Given the description of an element on the screen output the (x, y) to click on. 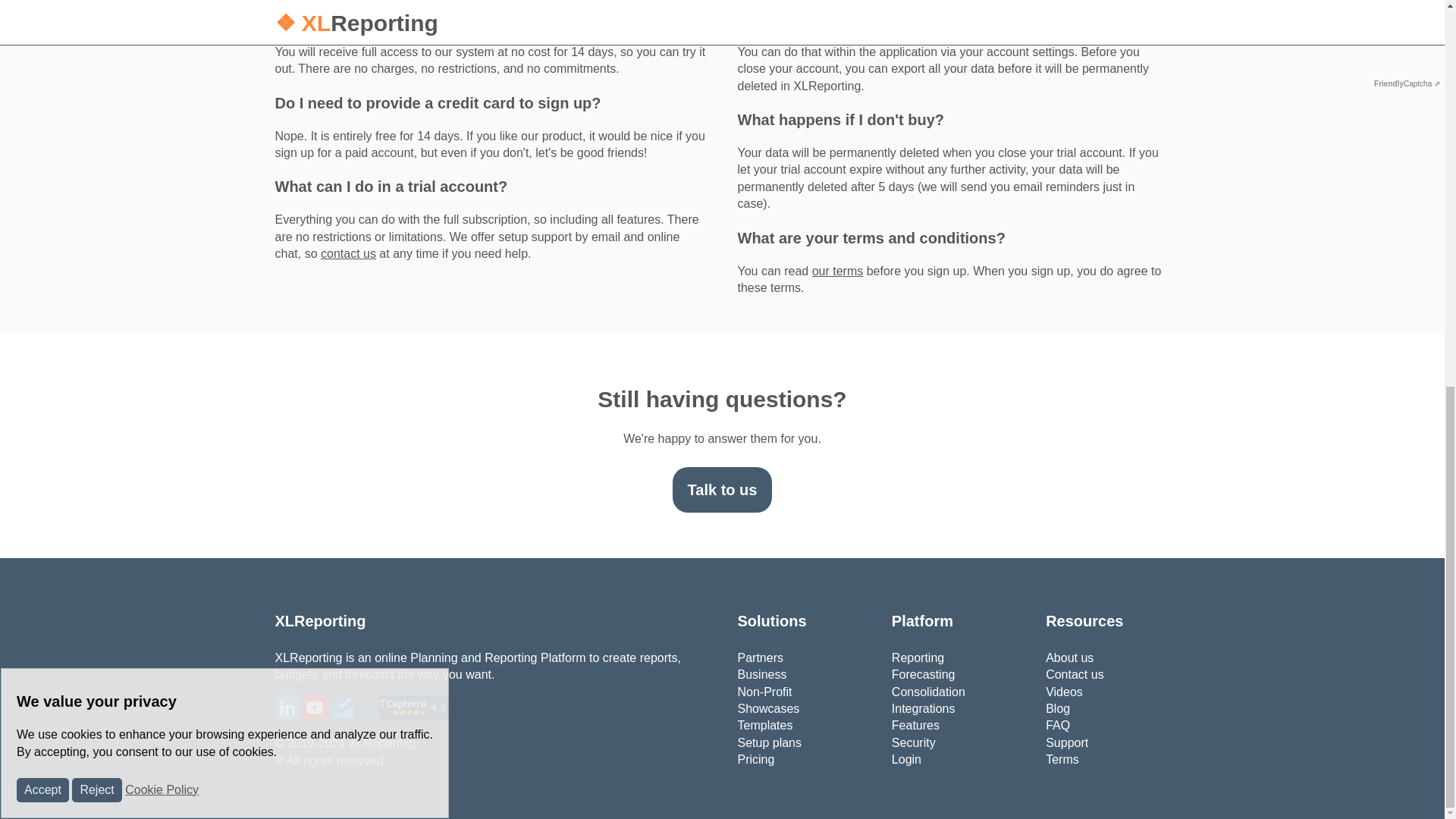
Cookie Policy (161, 59)
Non-Profit (764, 690)
Integrations (923, 707)
Features (915, 725)
About us (1069, 657)
our terms (837, 270)
Showcases (767, 707)
Blog (1057, 707)
Login (906, 758)
Partners (759, 657)
